Given the description of an element on the screen output the (x, y) to click on. 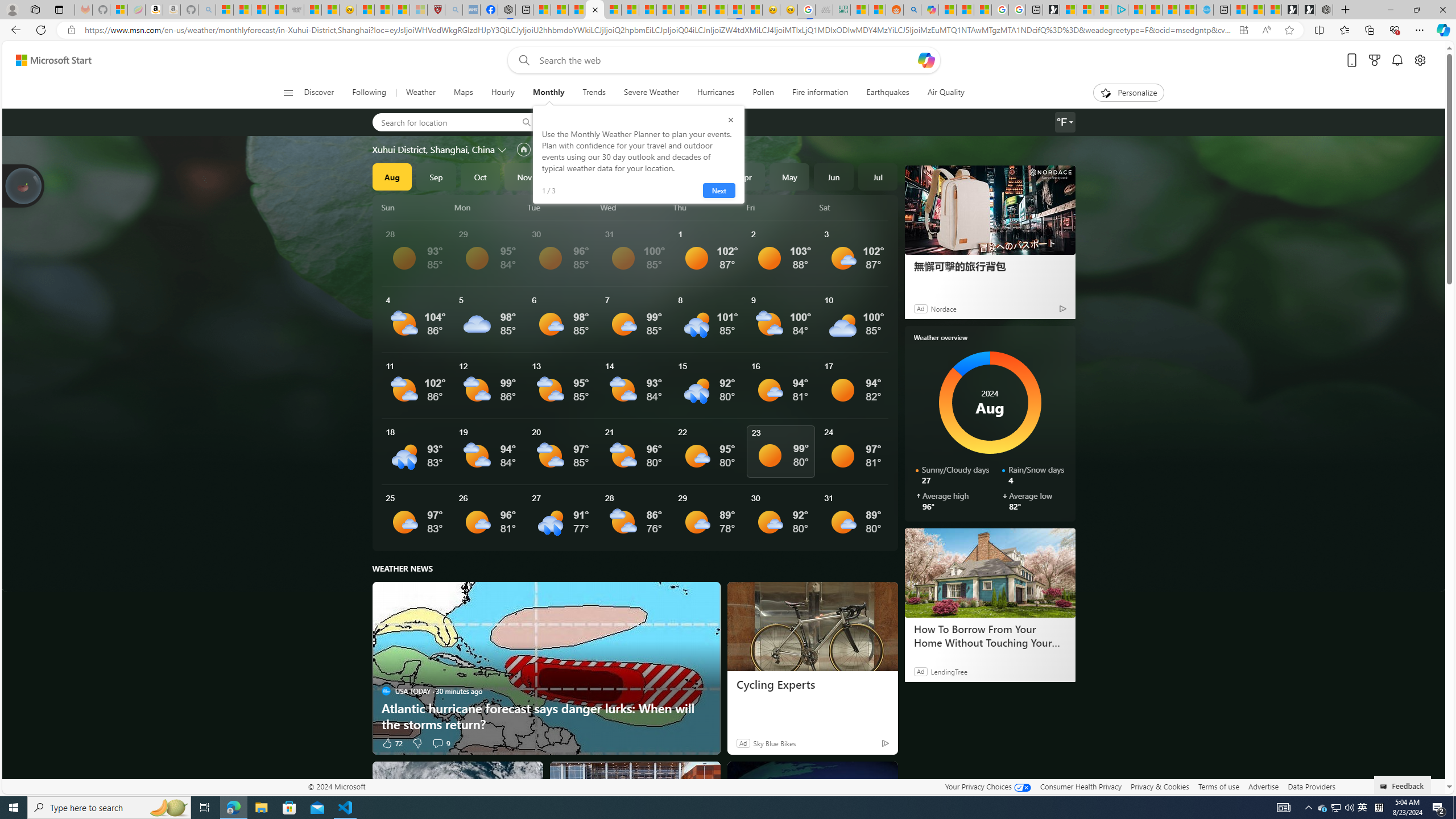
Feb (657, 176)
Terms of use (1218, 785)
Join us in planting real trees to help our planet! (23, 184)
May (789, 176)
